Given the description of an element on the screen output the (x, y) to click on. 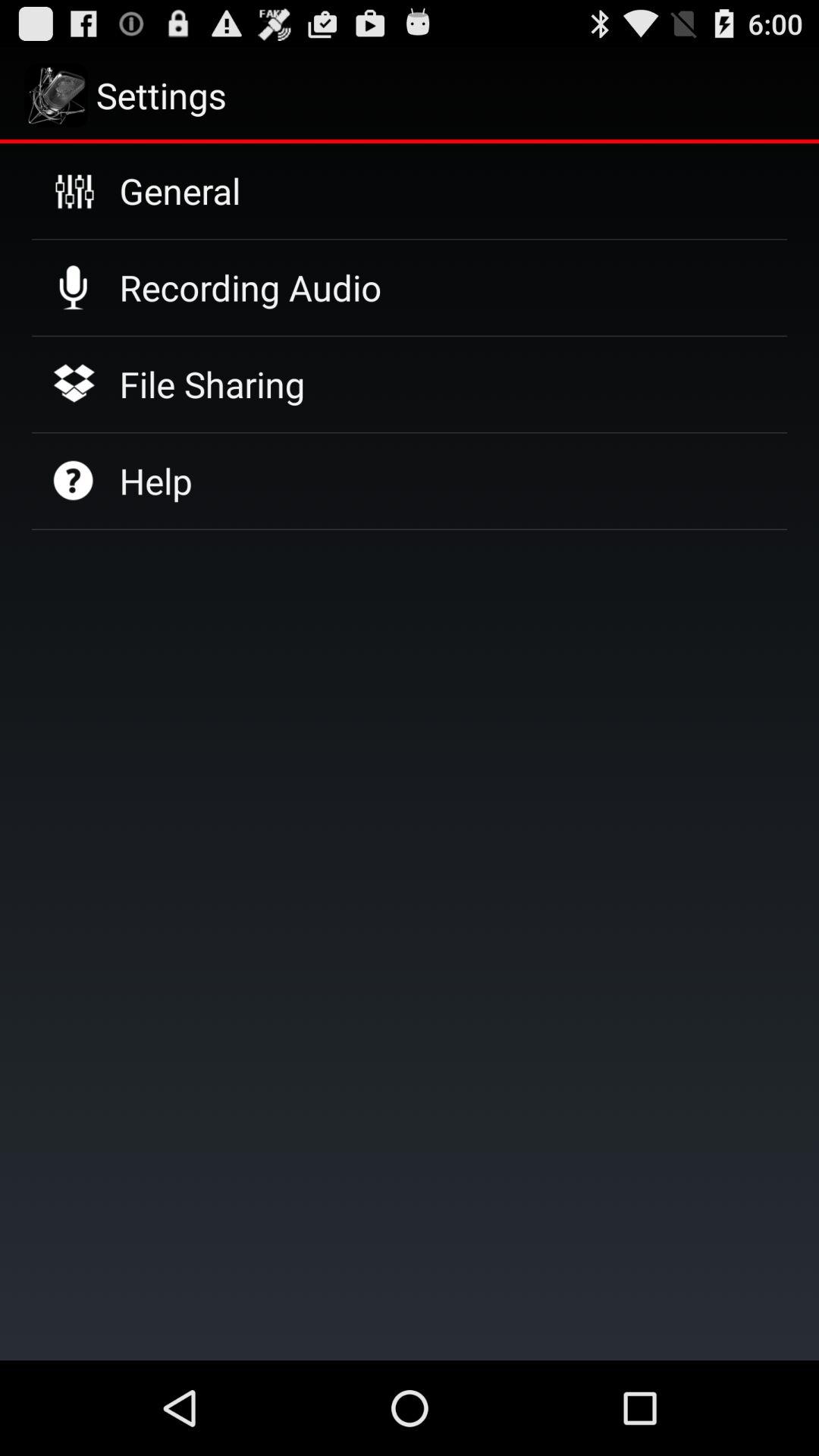
tap the file sharing item (211, 384)
